Given the description of an element on the screen output the (x, y) to click on. 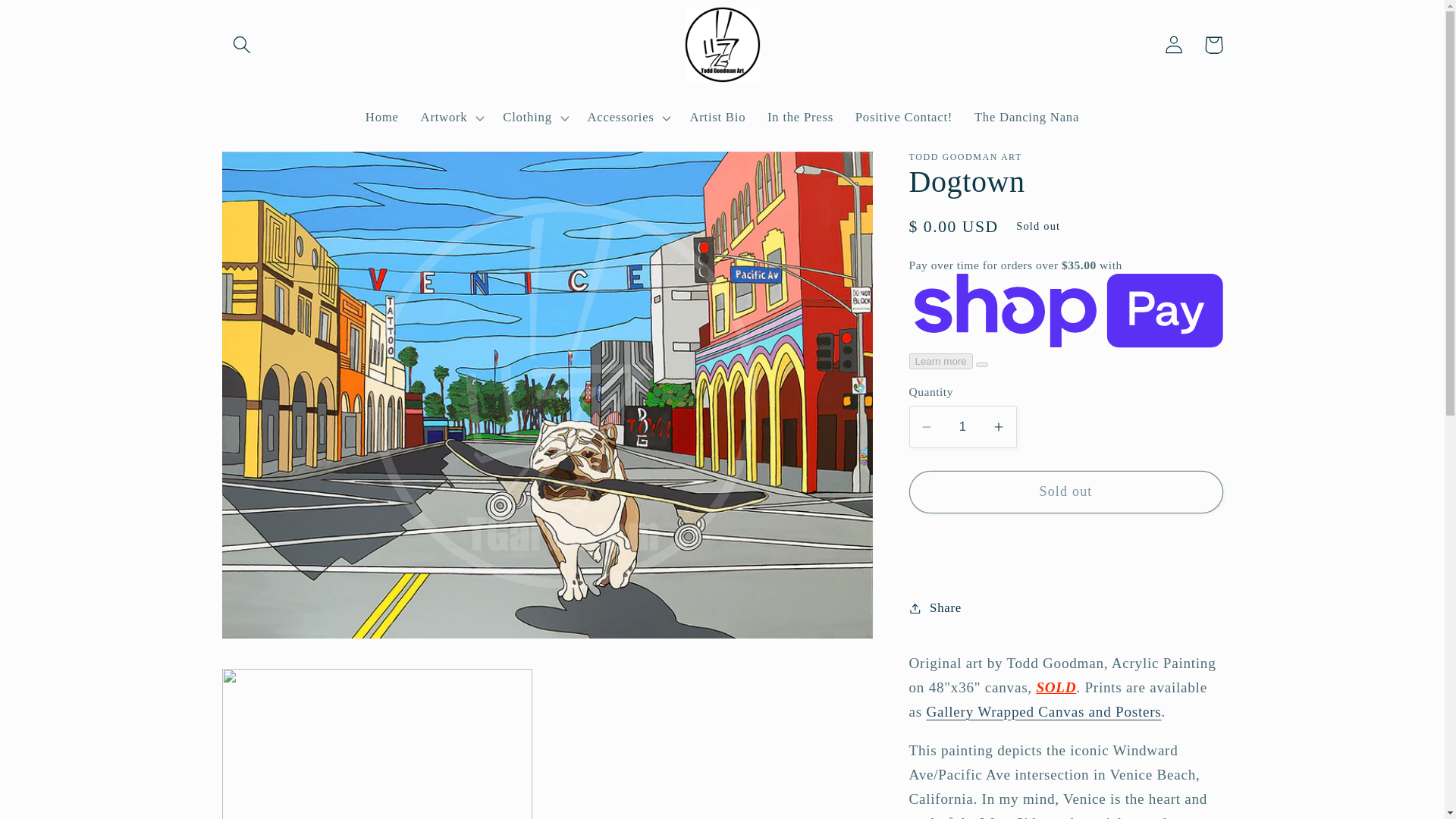
1 (962, 426)
Home (381, 118)
Skip to content (55, 20)
